Given the description of an element on the screen output the (x, y) to click on. 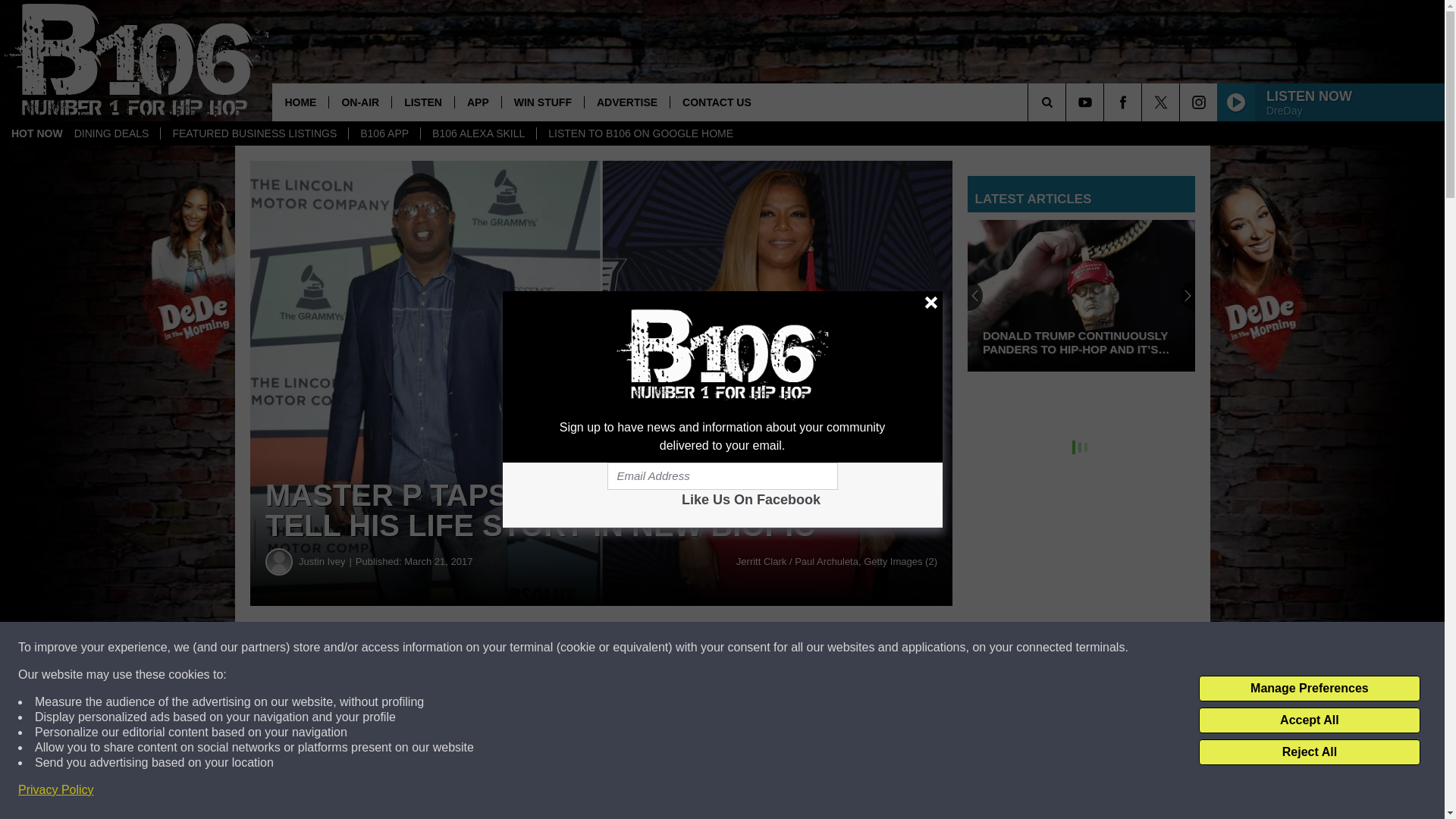
CONTACT US (715, 102)
SEARCH (1068, 102)
Email Address (722, 475)
Accept All (1309, 720)
ADVERTISE (626, 102)
B106 APP (383, 133)
WIN STUFF (541, 102)
HOME (300, 102)
SEARCH (1068, 102)
ON-AIR (360, 102)
Share on Facebook (460, 647)
B106 ALEXA SKILL (477, 133)
LISTEN TO B106 ON GOOGLE HOME (639, 133)
LISTEN (422, 102)
FEATURED BUSINESS LISTINGS (253, 133)
